Given the description of an element on the screen output the (x, y) to click on. 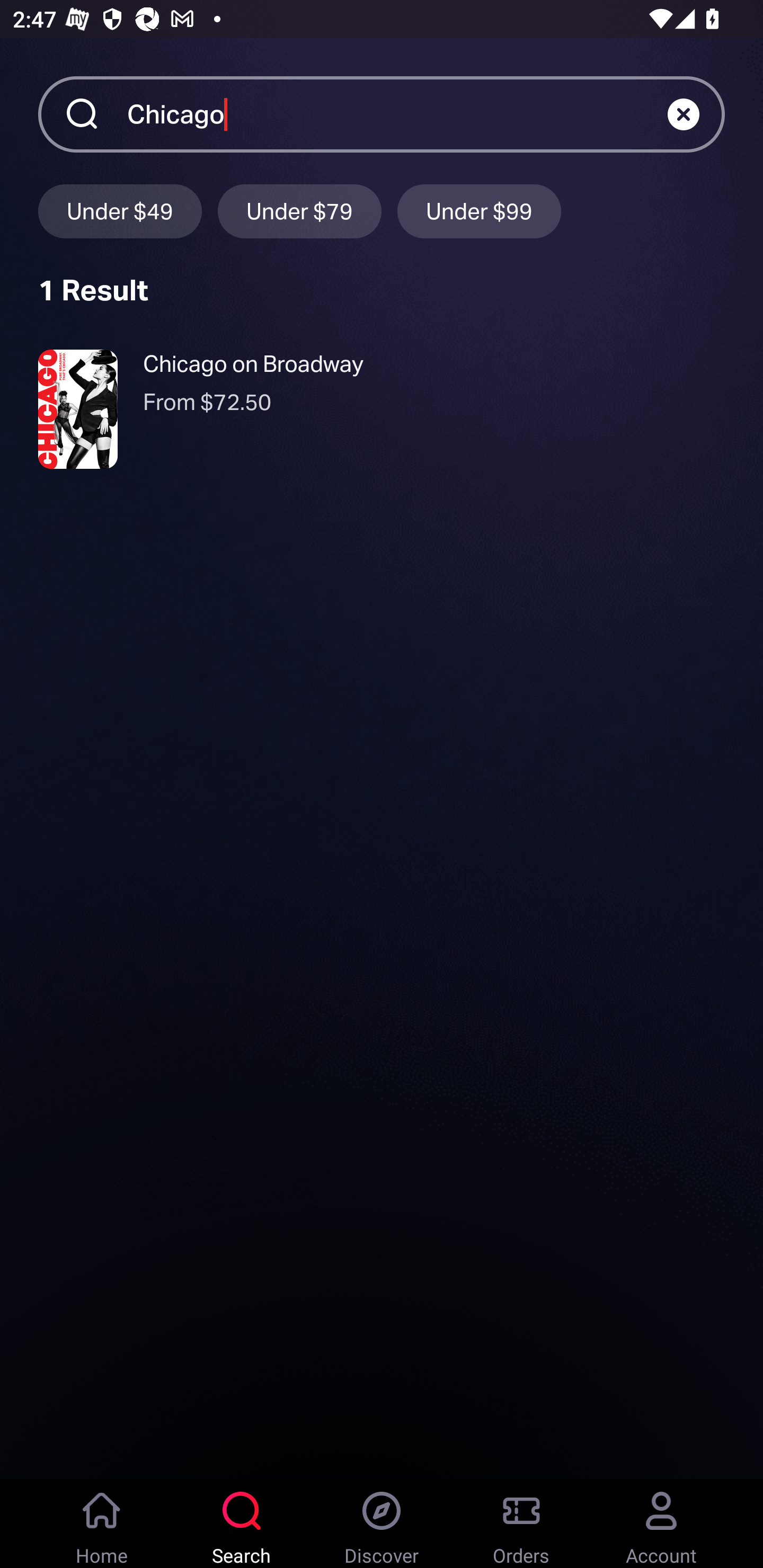
Chicago (397, 113)
Under $49 (120, 211)
Under $79 (299, 211)
Under $99 (478, 211)
Home (101, 1523)
Discover (381, 1523)
Orders (521, 1523)
Account (660, 1523)
